Given the description of an element on the screen output the (x, y) to click on. 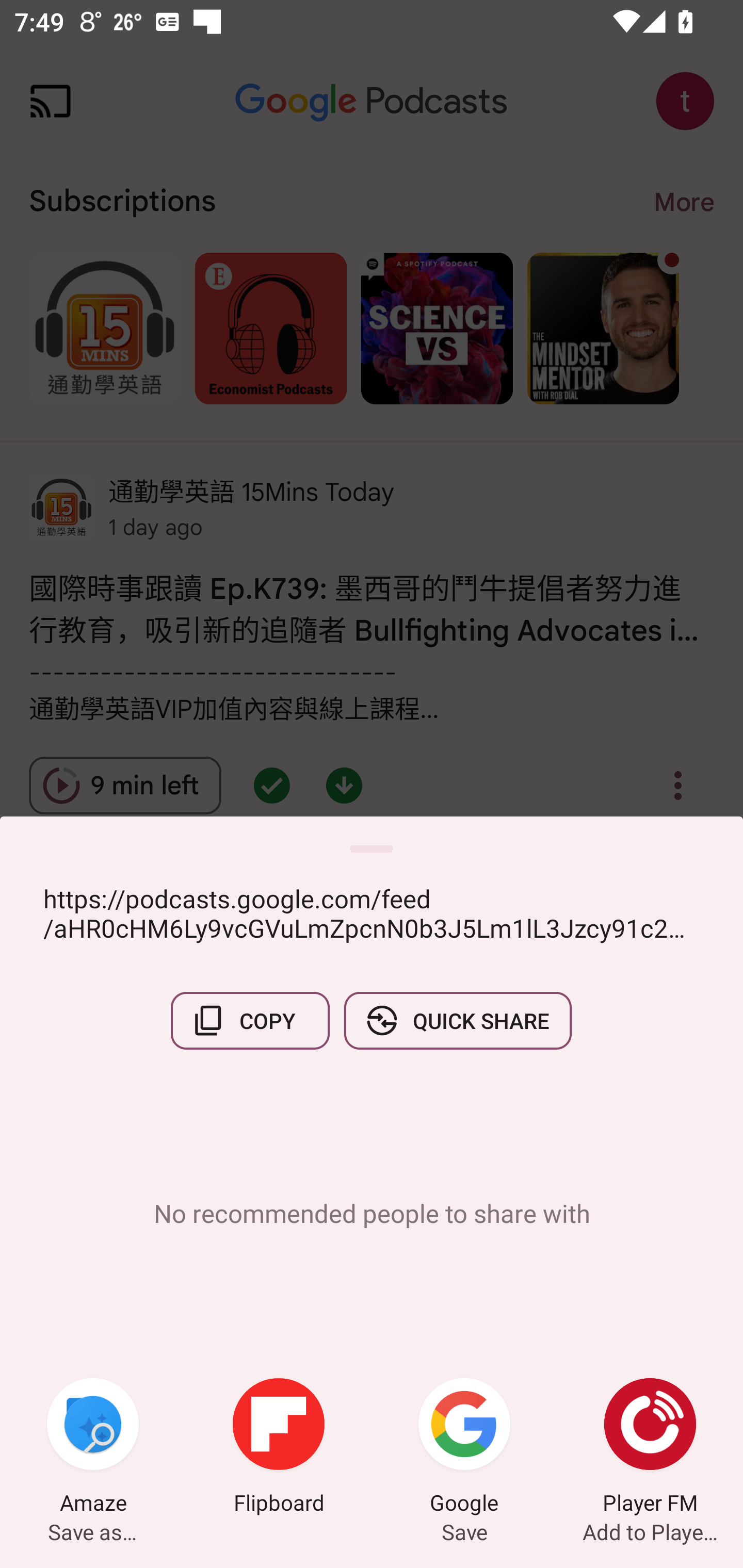
COPY (249, 1020)
QUICK SHARE (457, 1020)
Amaze Save as… (92, 1448)
Flipboard (278, 1448)
Google Save (464, 1448)
Player FM Add to Player FM (650, 1448)
